Given the description of an element on the screen output the (x, y) to click on. 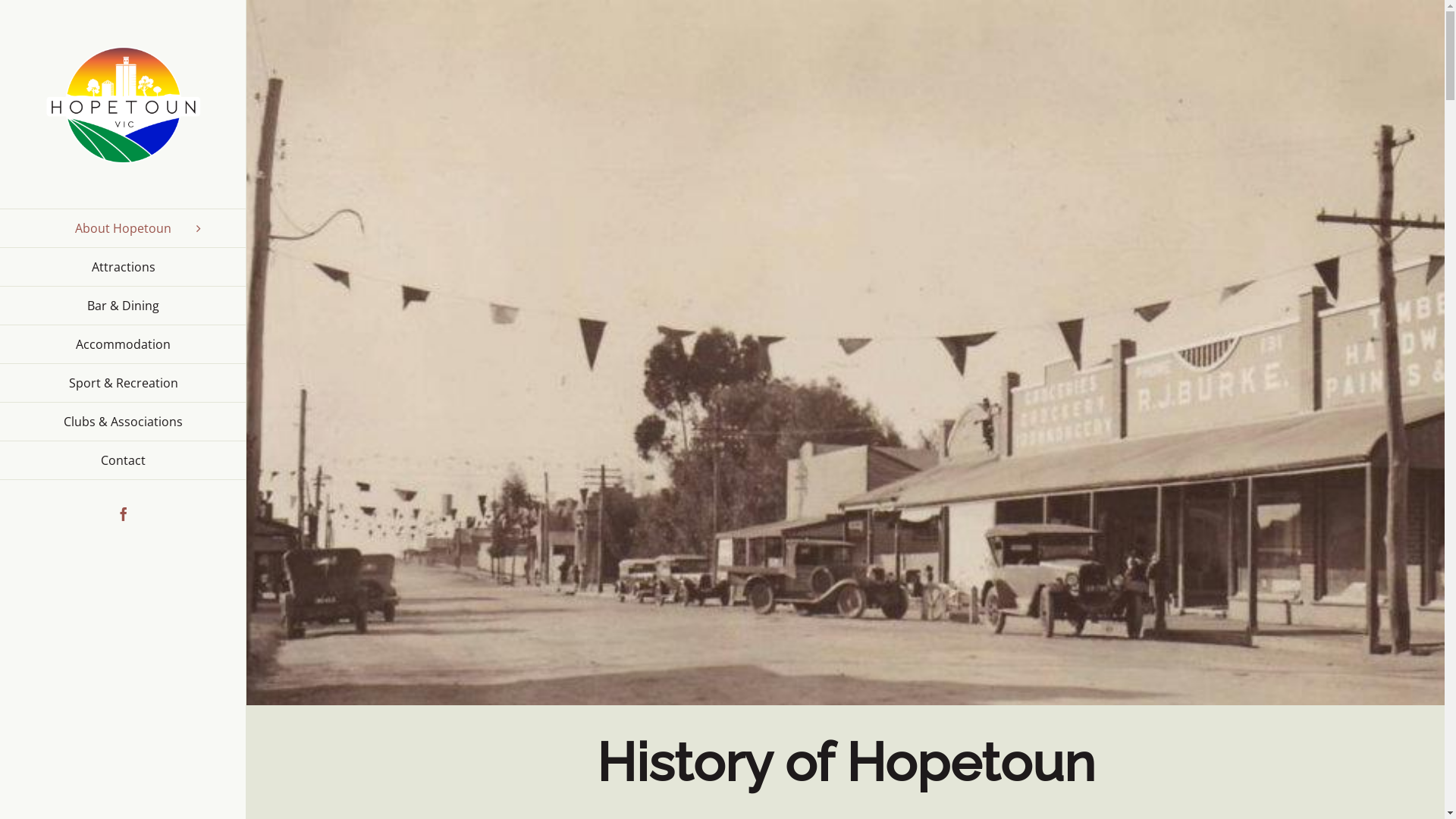
About Hopetoun Element type: text (123, 227)
Facebook Element type: text (123, 513)
Attractions Element type: text (123, 266)
Clubs & Associations Element type: text (123, 421)
Bar & Dining Element type: text (123, 305)
Sport & Recreation Element type: text (123, 383)
Accommodation Element type: text (123, 344)
Contact Element type: text (123, 460)
